Given the description of an element on the screen output the (x, y) to click on. 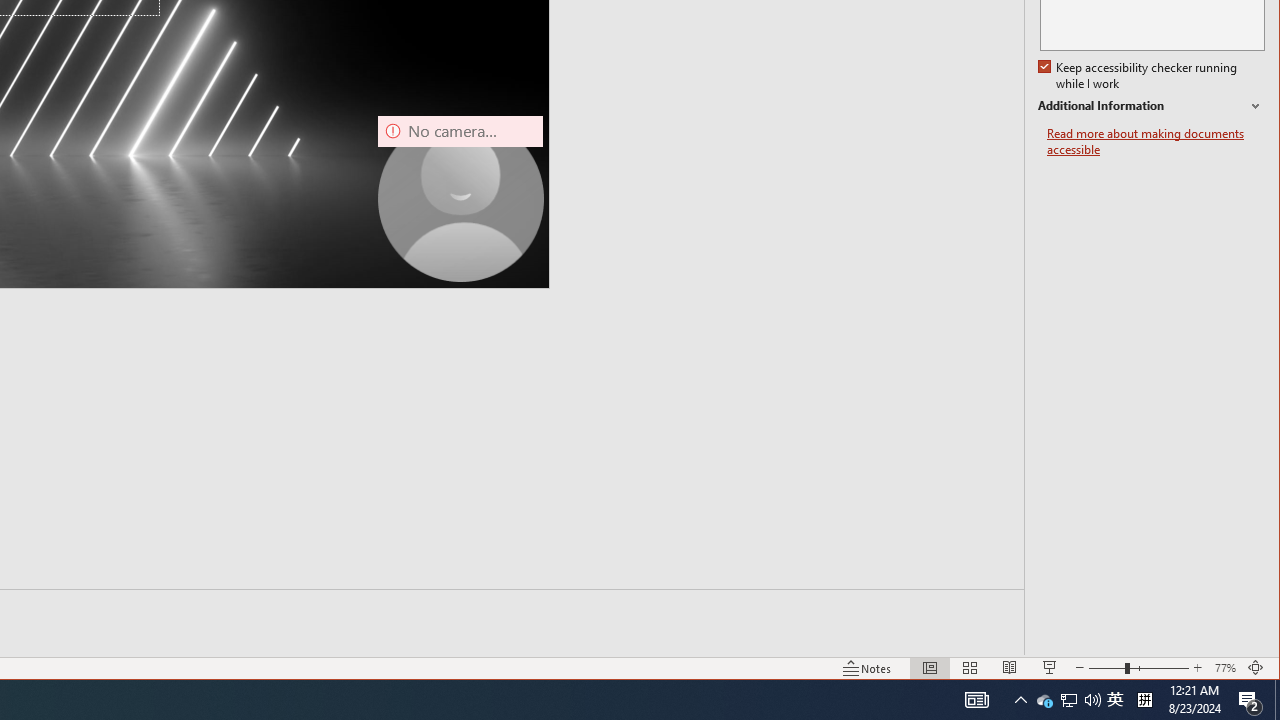
Camera 7, No camera detected. (460, 197)
Keep accessibility checker running while I work (1139, 76)
Additional Information (1151, 106)
